Given the description of an element on the screen output the (x, y) to click on. 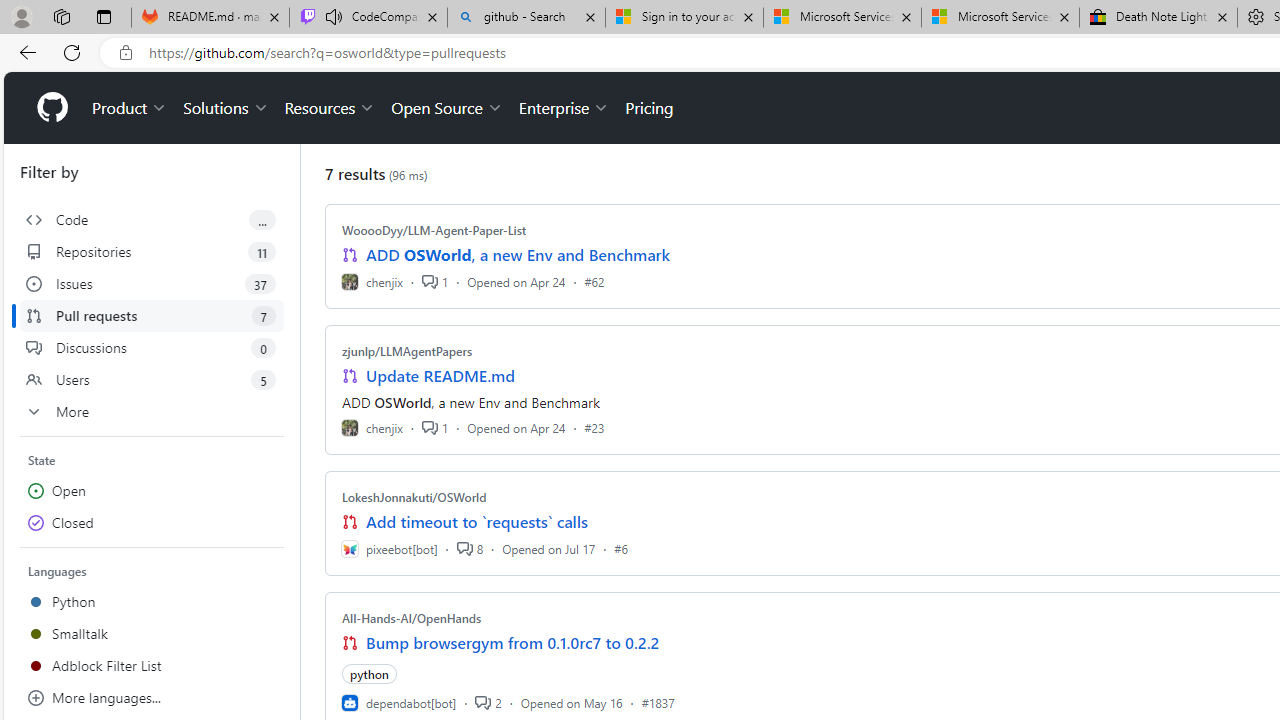
#62 (594, 281)
Solutions (225, 107)
Update README.md (440, 376)
Sign in to your account (683, 17)
zjunlp/LLMAgentPapers (407, 351)
Open Source (446, 107)
1 (435, 427)
More languages... (152, 697)
pixeebot[bot] (389, 548)
Mute tab (333, 16)
